Given the description of an element on the screen output the (x, y) to click on. 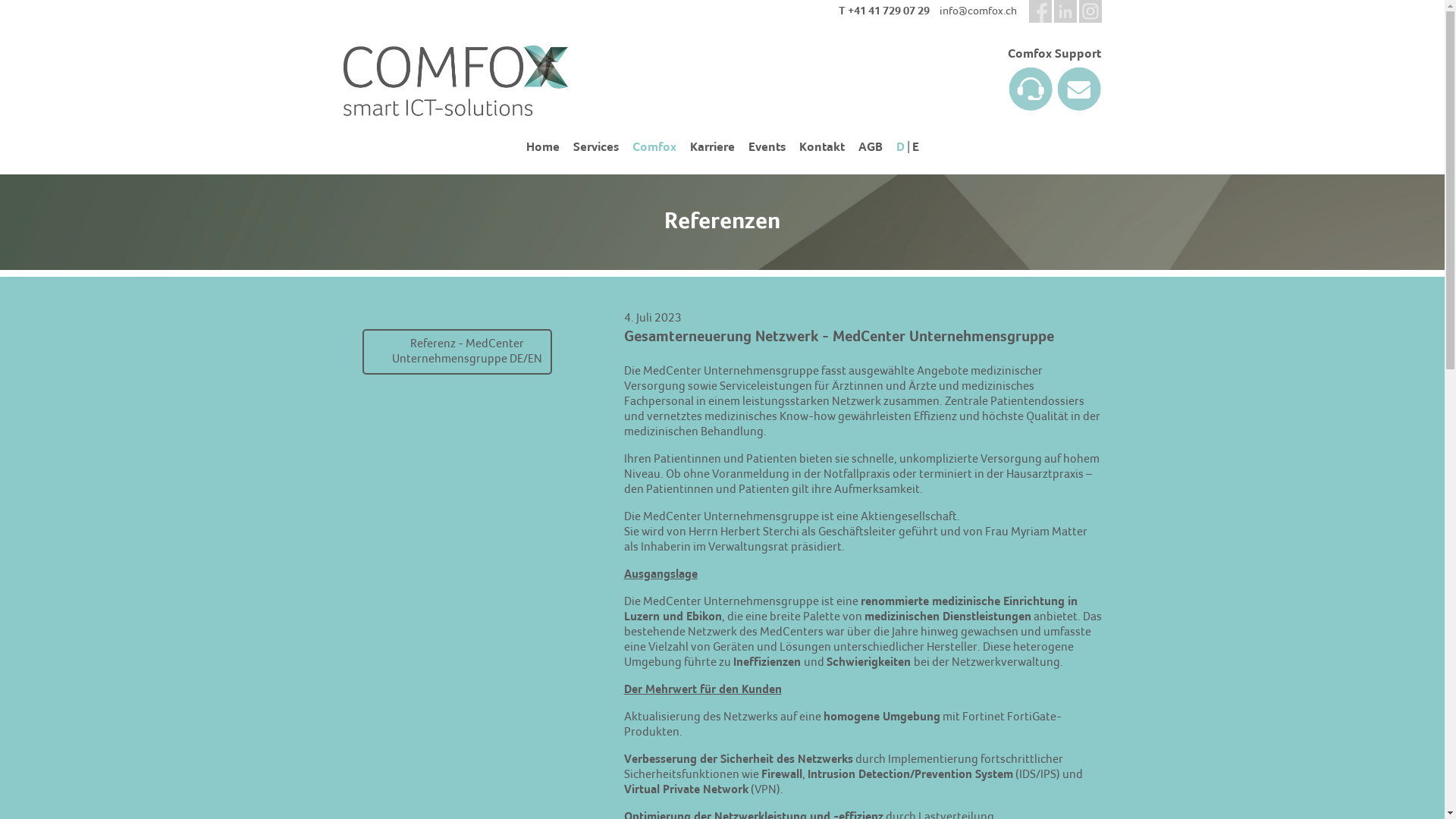
Services Element type: text (595, 147)
Kontakt Element type: text (821, 147)
Referenz - MedCenter Unternehmensgruppe DE/EN Element type: text (457, 351)
D Element type: text (900, 147)
Comfox Element type: text (654, 147)
E Element type: text (914, 147)
info@comfox.ch Element type: text (977, 11)
AGB Element type: text (870, 147)
Karriere Element type: text (712, 147)
Events Element type: text (765, 147)
Home Element type: text (542, 147)
